Given the description of an element on the screen output the (x, y) to click on. 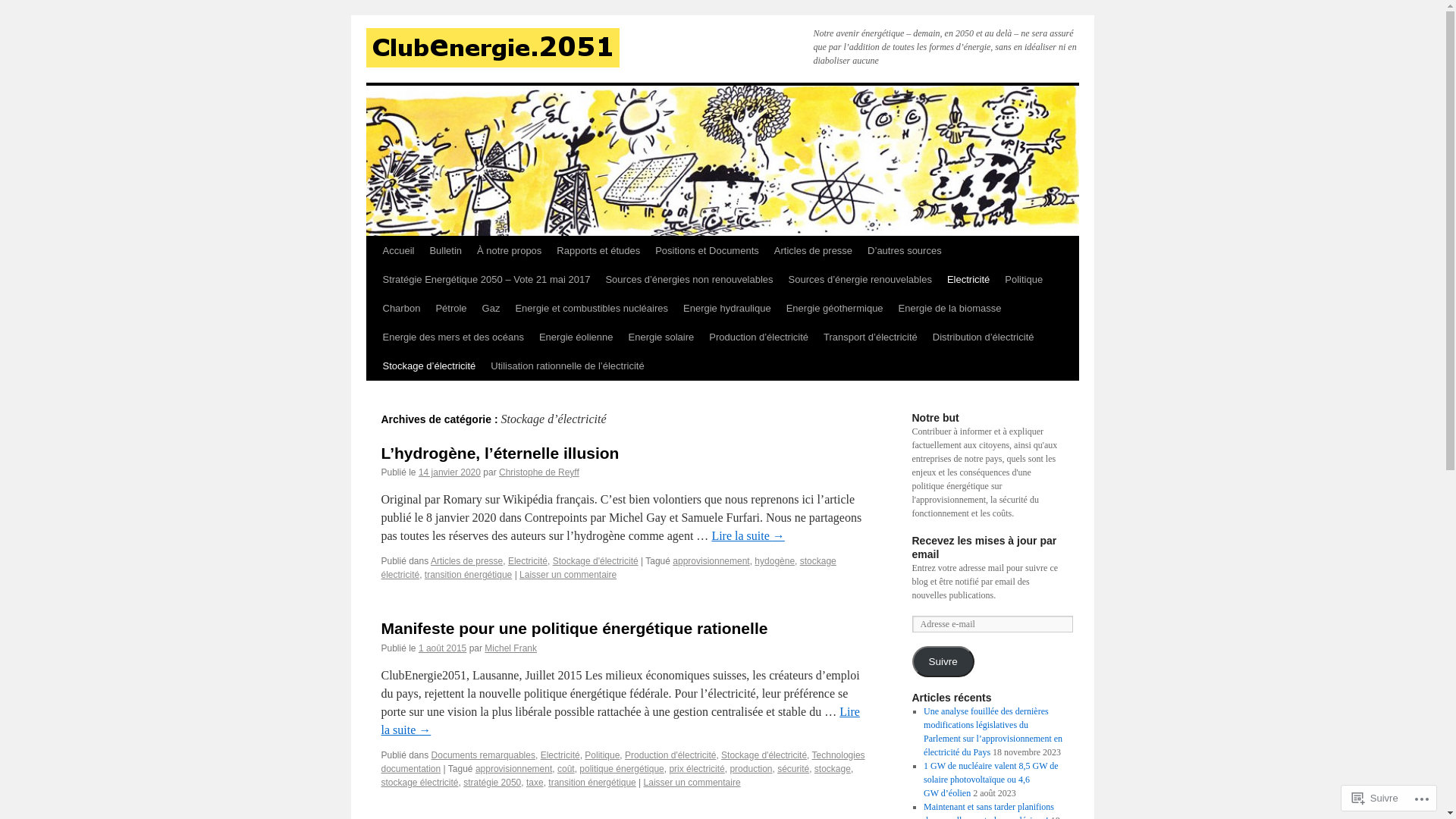
Suivre Element type: text (942, 661)
Michel Frank Element type: text (510, 648)
Bulletin Element type: text (445, 250)
Laisser un commentaire Element type: text (691, 782)
approvisionnement Element type: text (710, 560)
Energie hydraulique Element type: text (726, 308)
Accueil Element type: text (397, 250)
Documents remarquables Element type: text (483, 754)
Energie de la biomasse Element type: text (950, 308)
production Element type: text (750, 768)
Gaz Element type: text (491, 308)
stockage Element type: text (832, 768)
14 janvier 2020 Element type: text (449, 472)
Charbon Element type: text (400, 308)
Suivre Element type: text (1375, 797)
Technologies documentation Element type: text (622, 761)
Positions et Documents Element type: text (706, 250)
Politique Element type: text (1023, 279)
clubenergie2051.ch Element type: text (491, 47)
Articles de presse Element type: text (466, 560)
taxe Element type: text (534, 782)
Christophe de Reyff Element type: text (538, 472)
Laisser un commentaire Element type: text (567, 574)
Politique Element type: text (601, 754)
Articles de presse Element type: text (812, 250)
approvisionnement Element type: text (513, 768)
Energie solaire Element type: text (661, 337)
